Given the description of an element on the screen output the (x, y) to click on. 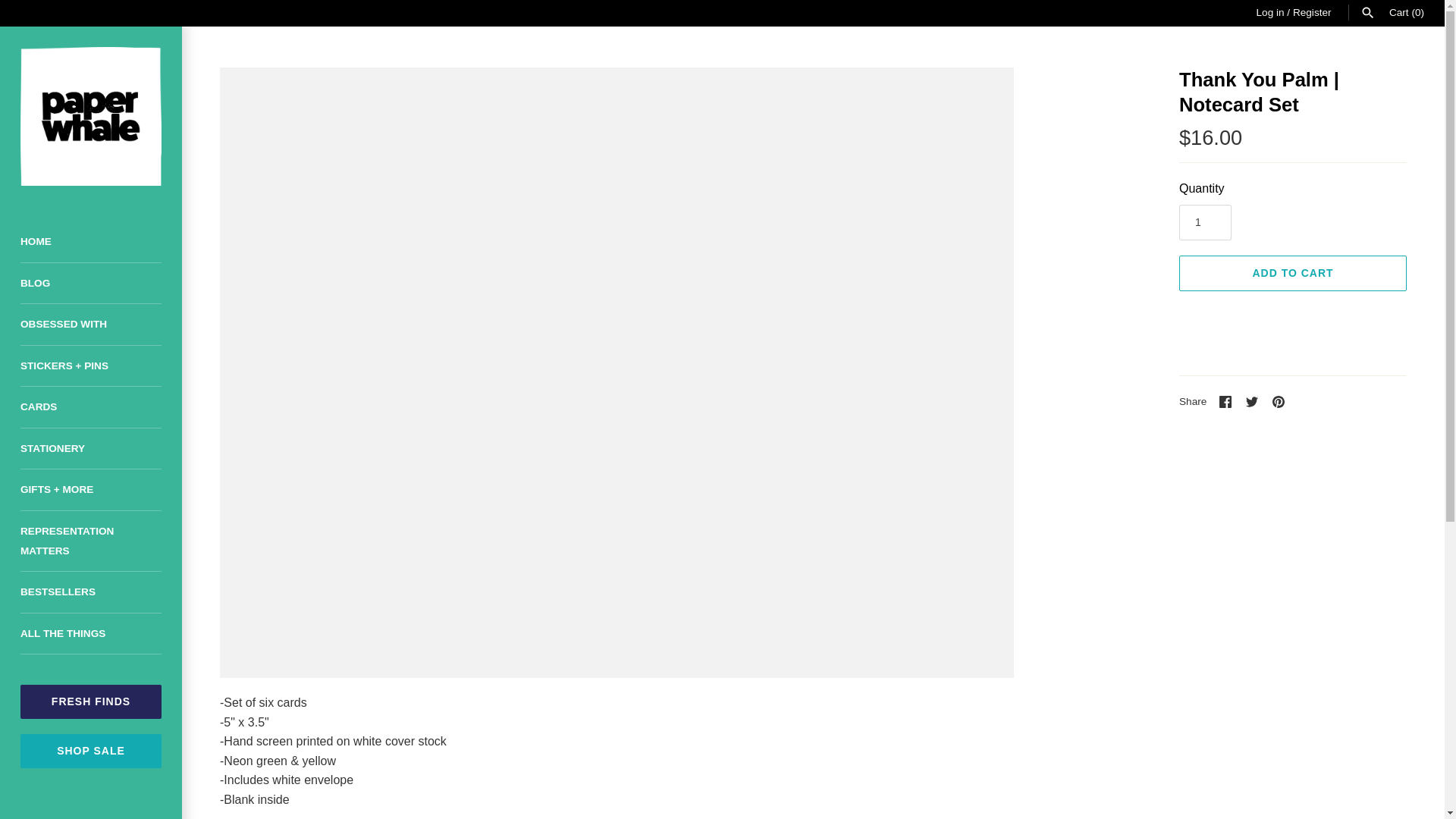
HOME (90, 241)
Paper Whale (91, 115)
Log in (1270, 12)
BLOG (90, 282)
OBSESSED WITH (90, 324)
Facebook (1225, 401)
Pinterest (1278, 401)
Twitter (1251, 401)
CARDS (90, 407)
STATIONERY (90, 449)
